Given the description of an element on the screen output the (x, y) to click on. 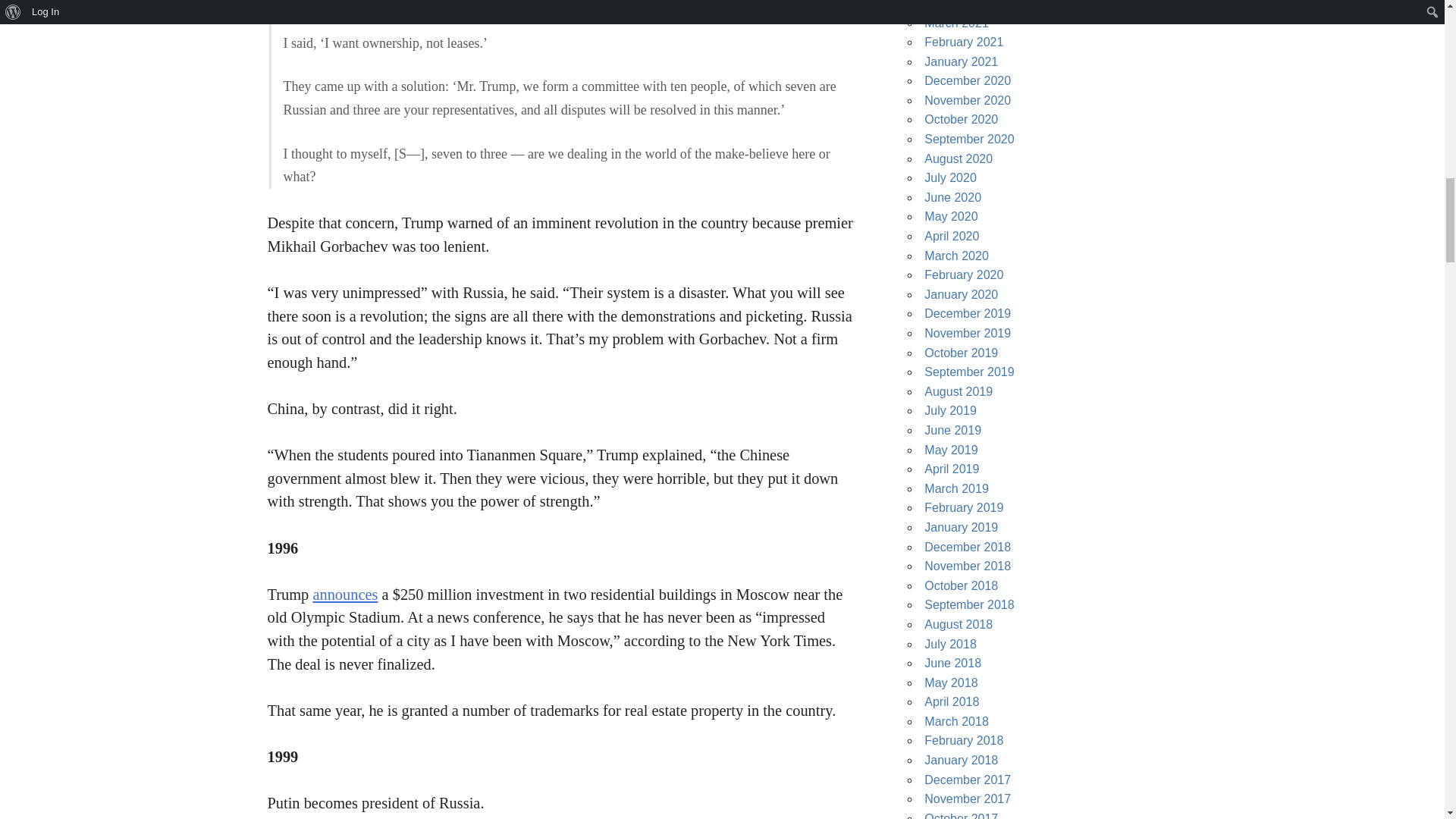
announces (345, 594)
